Given the description of an element on the screen output the (x, y) to click on. 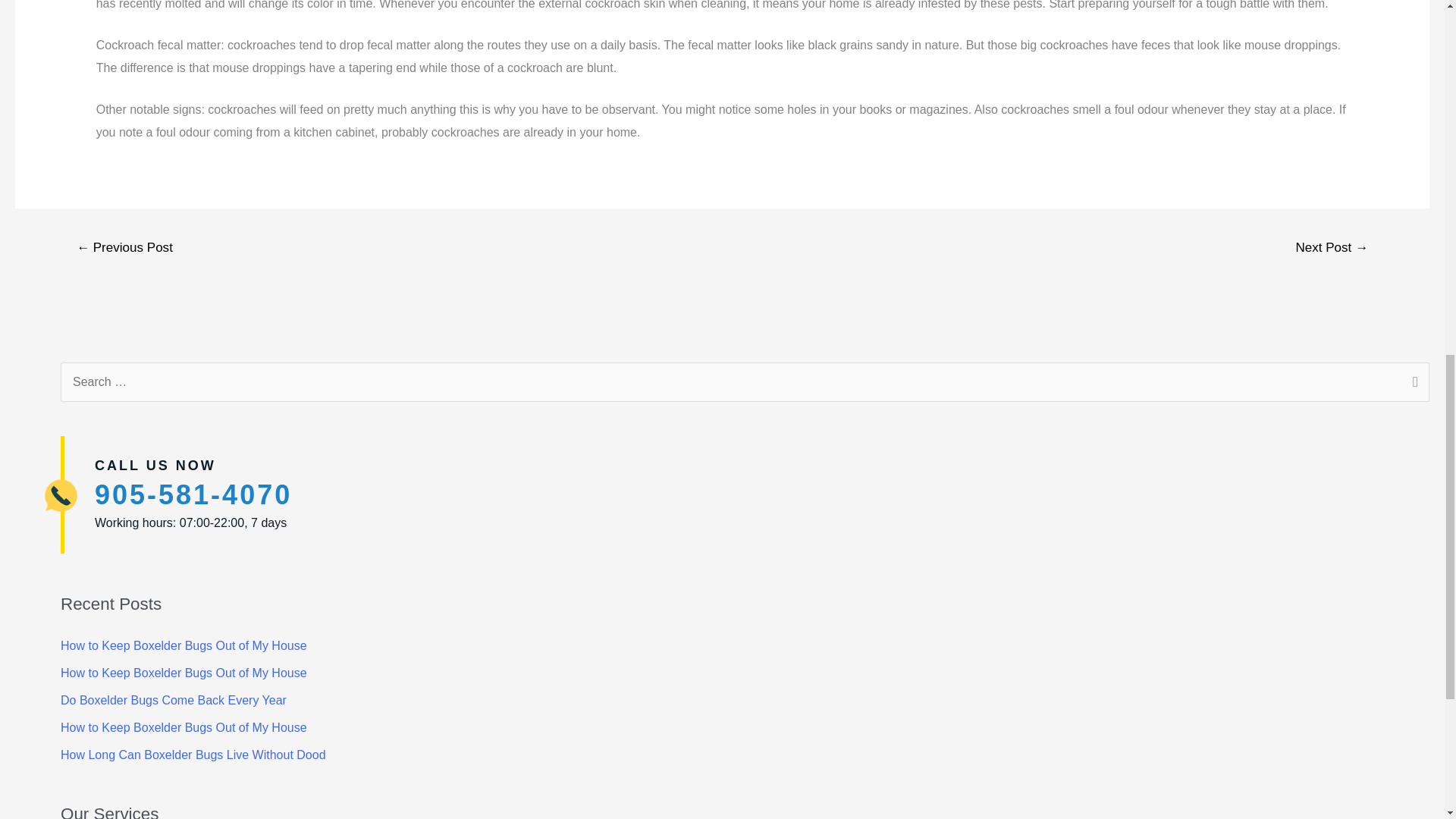
How to Keep Boxelder Bugs Out of My House (184, 672)
How to Keep Boxelder Bugs Out of My House (184, 645)
How to Keep Boxelder Bugs Out of My House (184, 727)
Do Boxelder Bugs Come Back Every Year (173, 699)
How Long Can Boxelder Bugs Live Without Dood (193, 754)
905-581-4070 (193, 494)
